Given the description of an element on the screen output the (x, y) to click on. 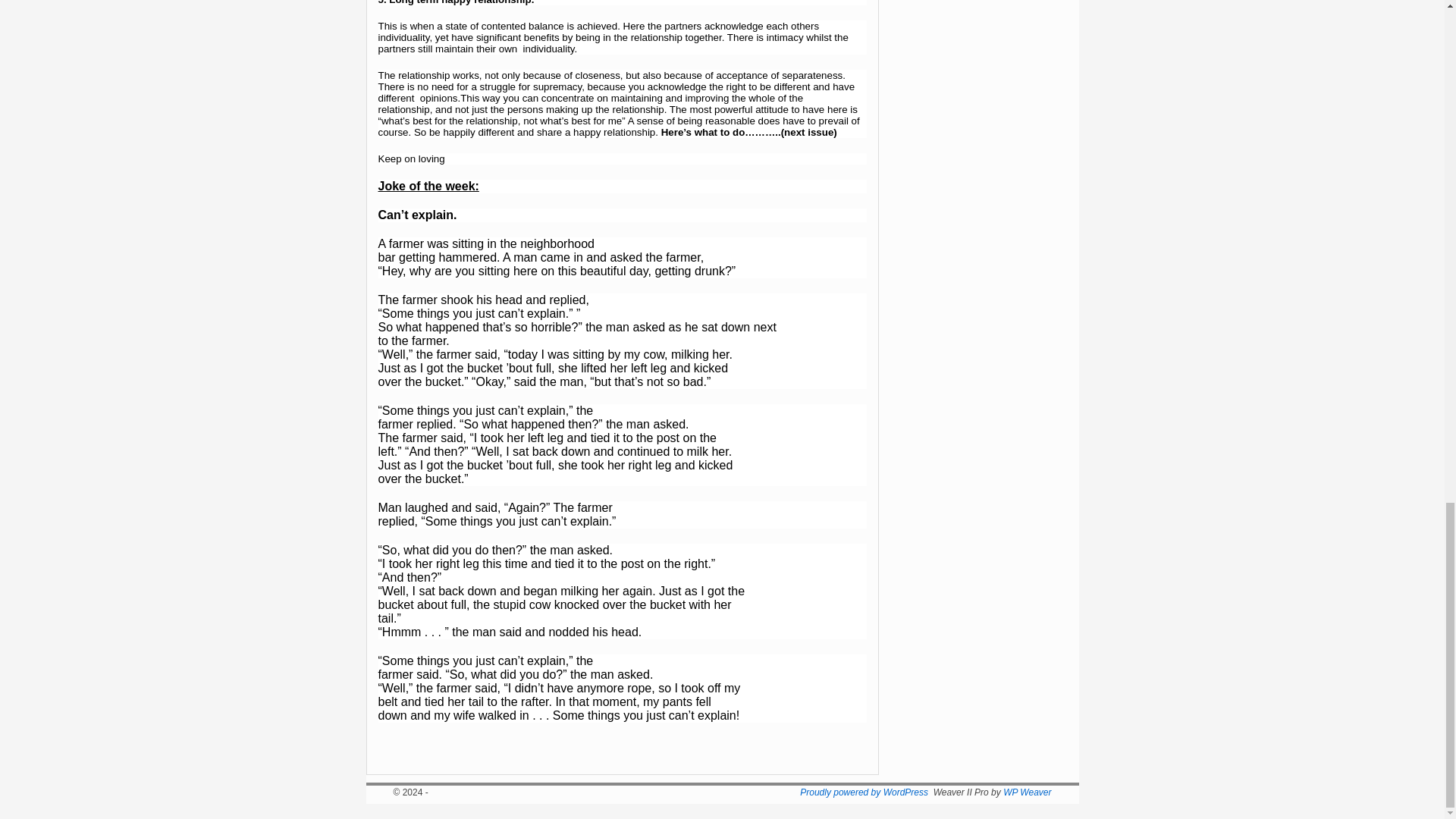
wordpress.org (863, 792)
